Given the description of an element on the screen output the (x, y) to click on. 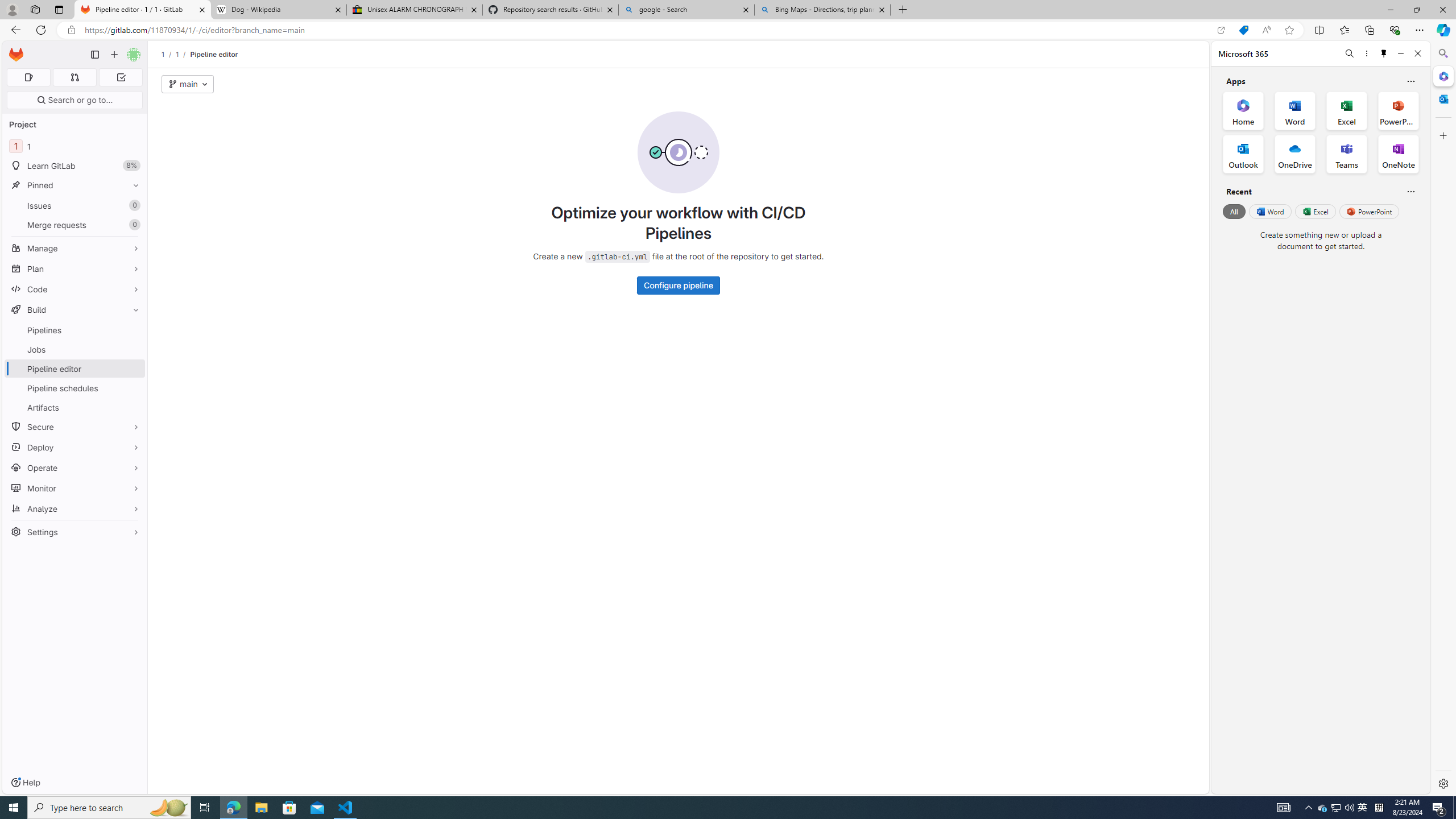
Issues 0 (74, 205)
Create new... (113, 54)
Plan (74, 268)
Merge requests 0 (74, 224)
Teams Office App (1346, 154)
Unpin Issues (132, 205)
1 (177, 53)
